Given the description of an element on the screen output the (x, y) to click on. 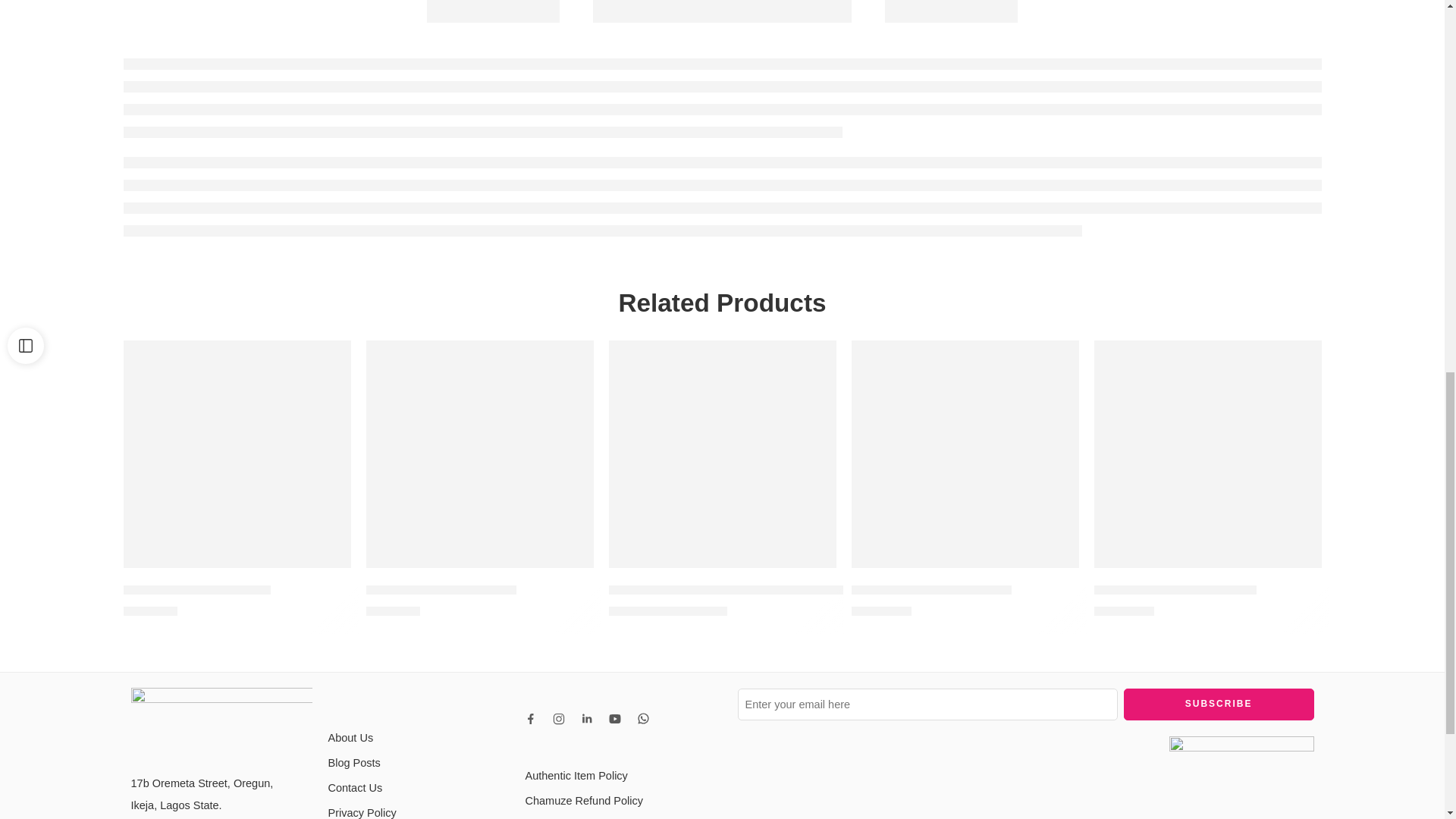
SUBSCRIBE (1219, 704)
